Given the description of an element on the screen output the (x, y) to click on. 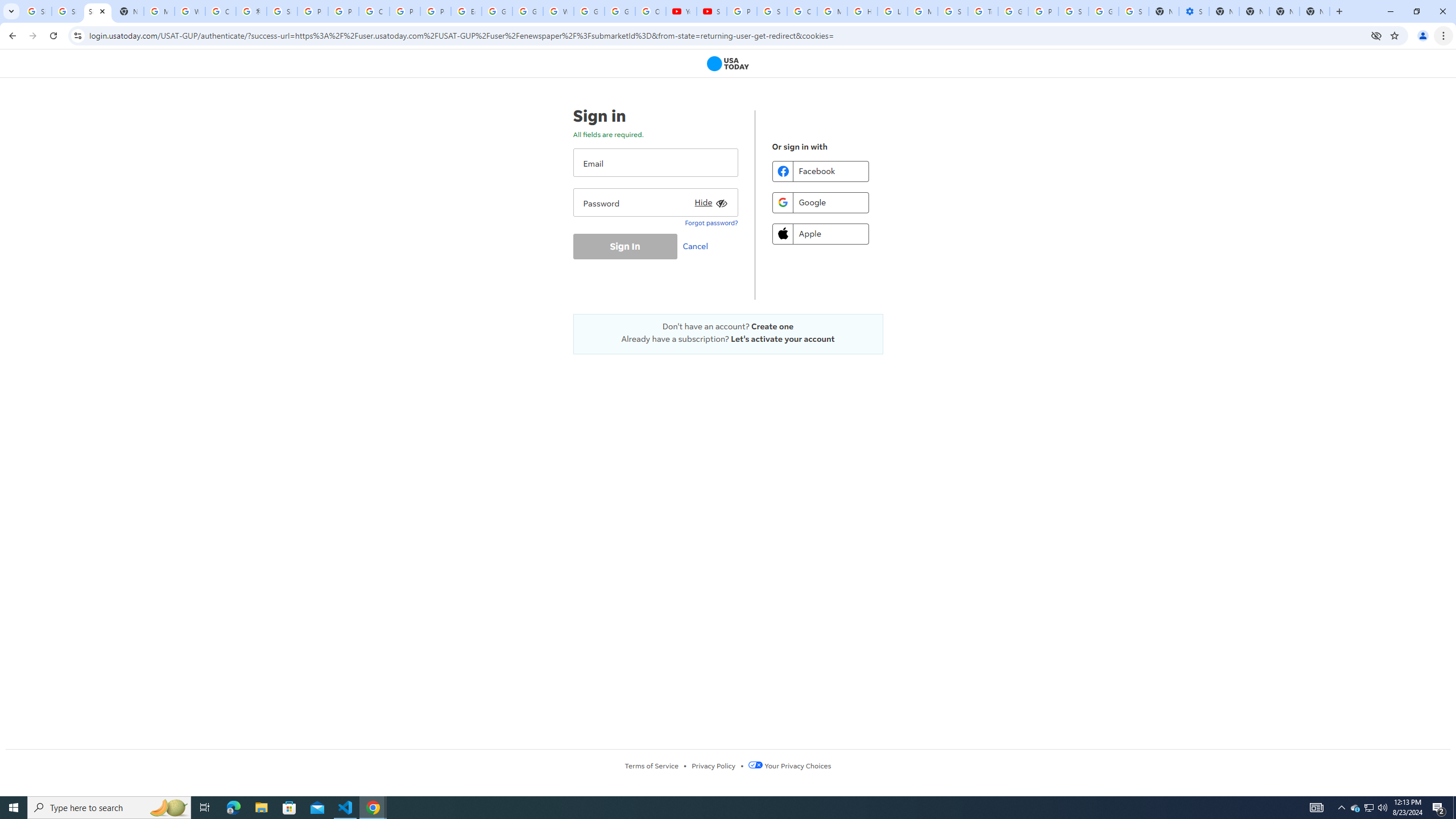
Settings - Performance (1193, 11)
Who is my administrator? - Google Account Help (189, 11)
Terms of Service (651, 765)
Welcome to My Activity (558, 11)
Back (10, 35)
Don't have an account? Create one (727, 326)
You (1422, 35)
Google Account (619, 11)
Sign in - Google Accounts (36, 11)
